Given the description of an element on the screen output the (x, y) to click on. 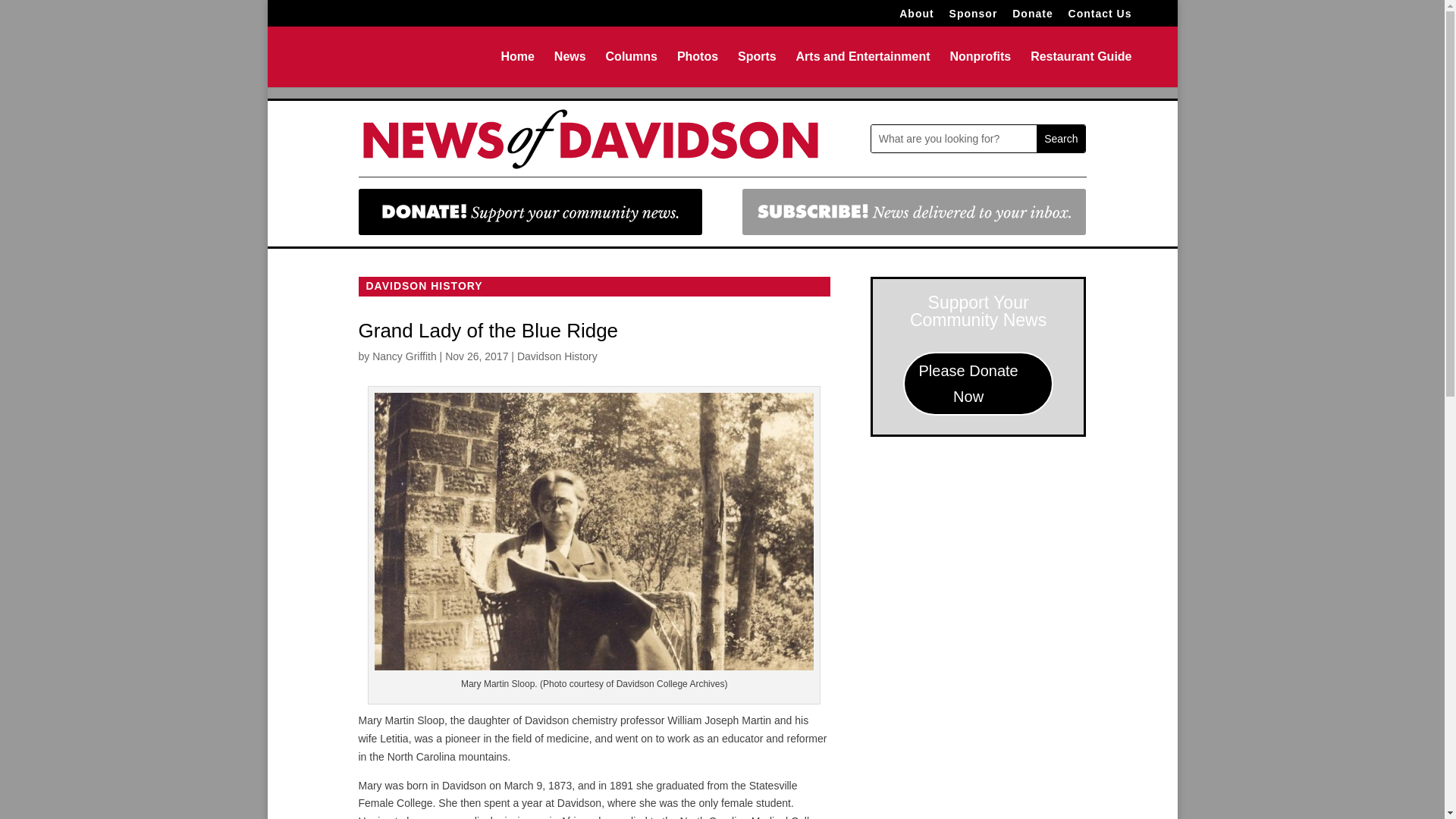
Columns (631, 68)
Arts and Entertainment (863, 68)
Nancy Griffith (404, 356)
Photos (697, 68)
Posts by Nancy Griffith (404, 356)
Search (1060, 138)
DonateButton-01 (529, 212)
Nonprofits (979, 68)
Sponsor (973, 16)
Sports (757, 68)
